Given the description of an element on the screen output the (x, y) to click on. 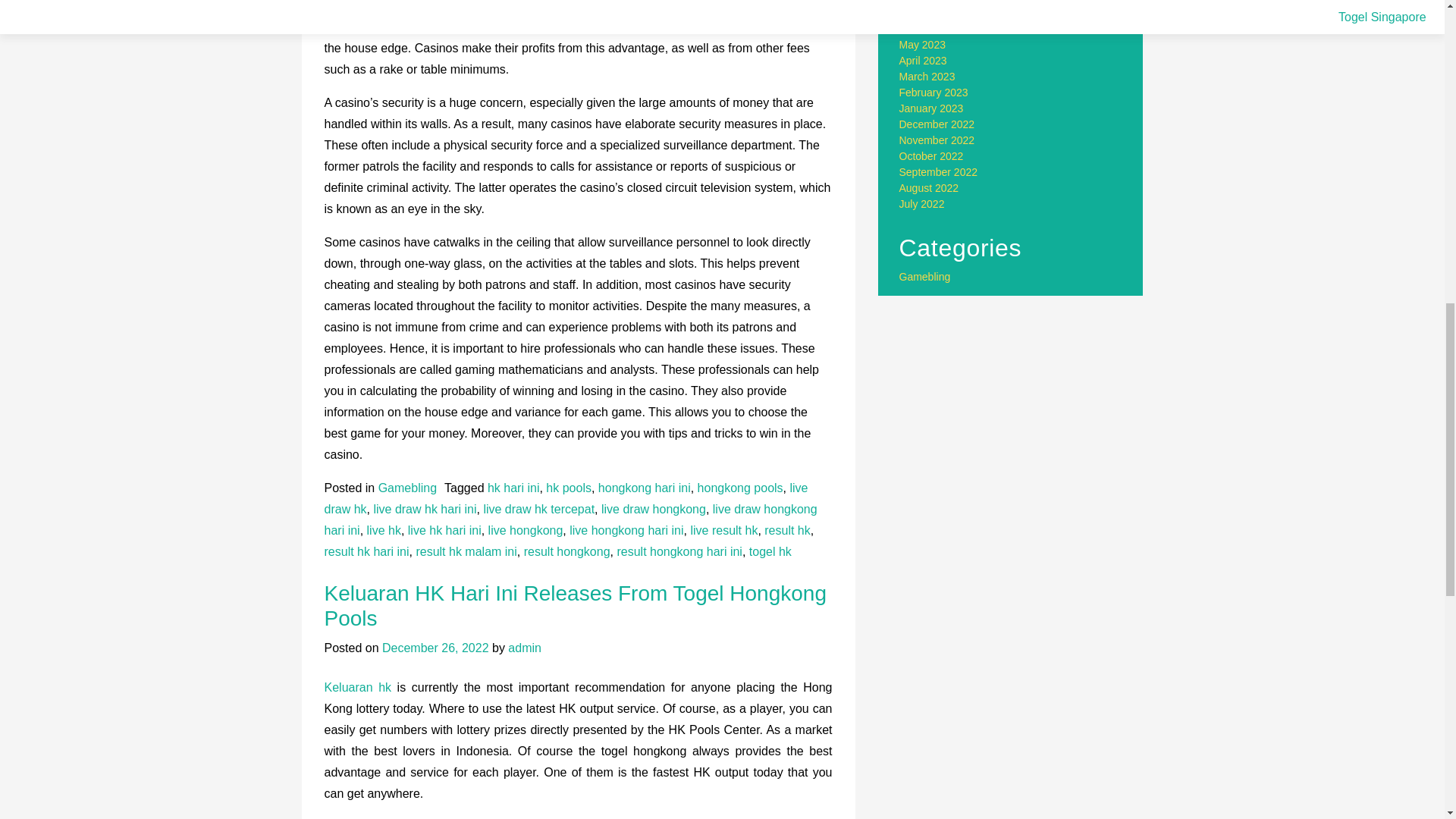
live result hk (723, 530)
admin (524, 647)
result hongkong (567, 551)
result hk hari ini (366, 551)
live draw hk hari ini (424, 508)
live hk hari ini (444, 530)
hongkong pools (740, 487)
Keluaran hk (357, 686)
Gamebling (407, 487)
live draw hongkong hari ini (570, 519)
